Given the description of an element on the screen output the (x, y) to click on. 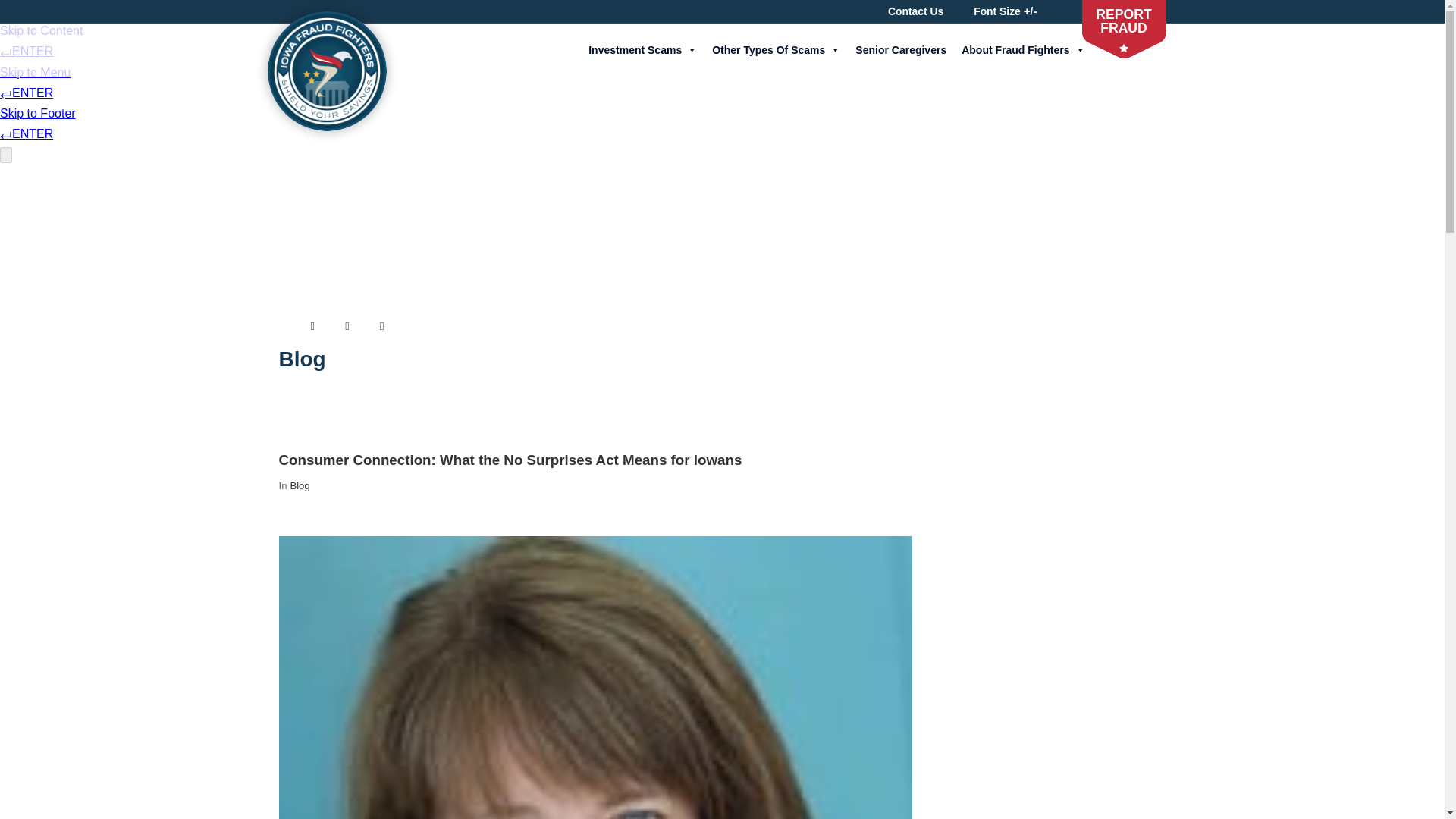
Contact Us (915, 10)
Other Types Of Scams (775, 50)
Iowa Fraud Fighters - Shield Your Savings (326, 71)
Investment Scams (642, 50)
REPORT FRAUD (1123, 21)
